Given the description of an element on the screen output the (x, y) to click on. 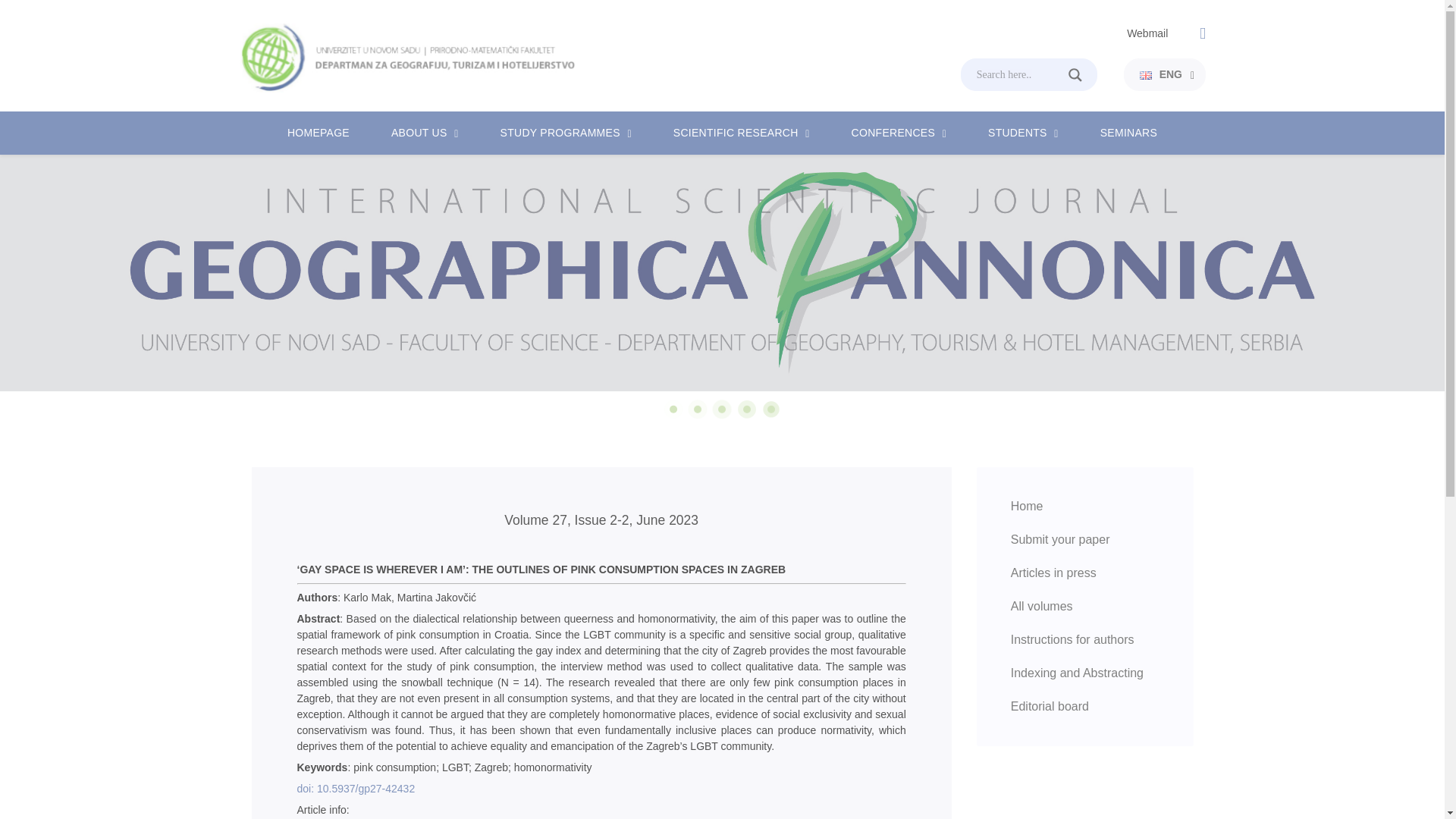
Webmail (1146, 33)
Search (1084, 74)
Search (1084, 74)
ENG (1161, 73)
Search (1084, 74)
ABOUT US (418, 132)
HOMEPAGE (317, 132)
